Given the description of an element on the screen output the (x, y) to click on. 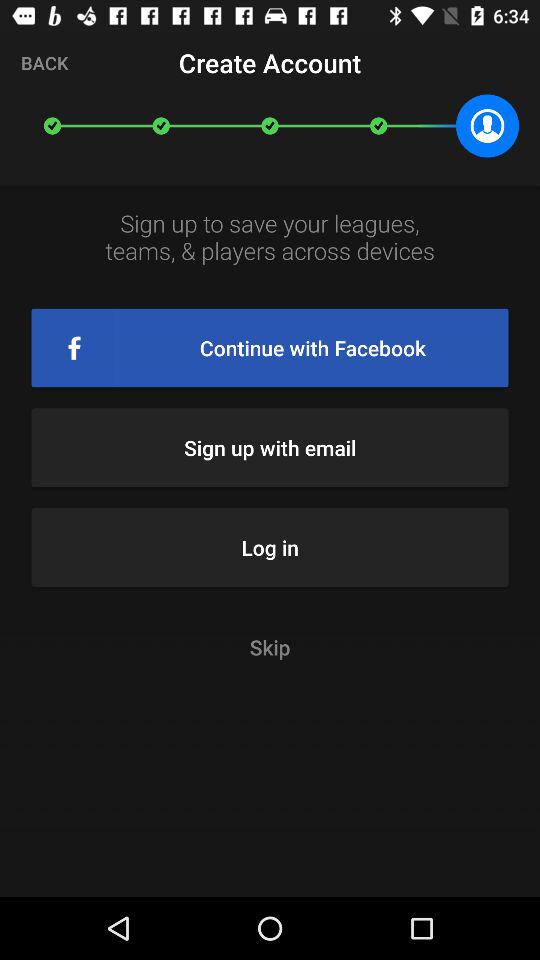
select back (44, 62)
